Given the description of an element on the screen output the (x, y) to click on. 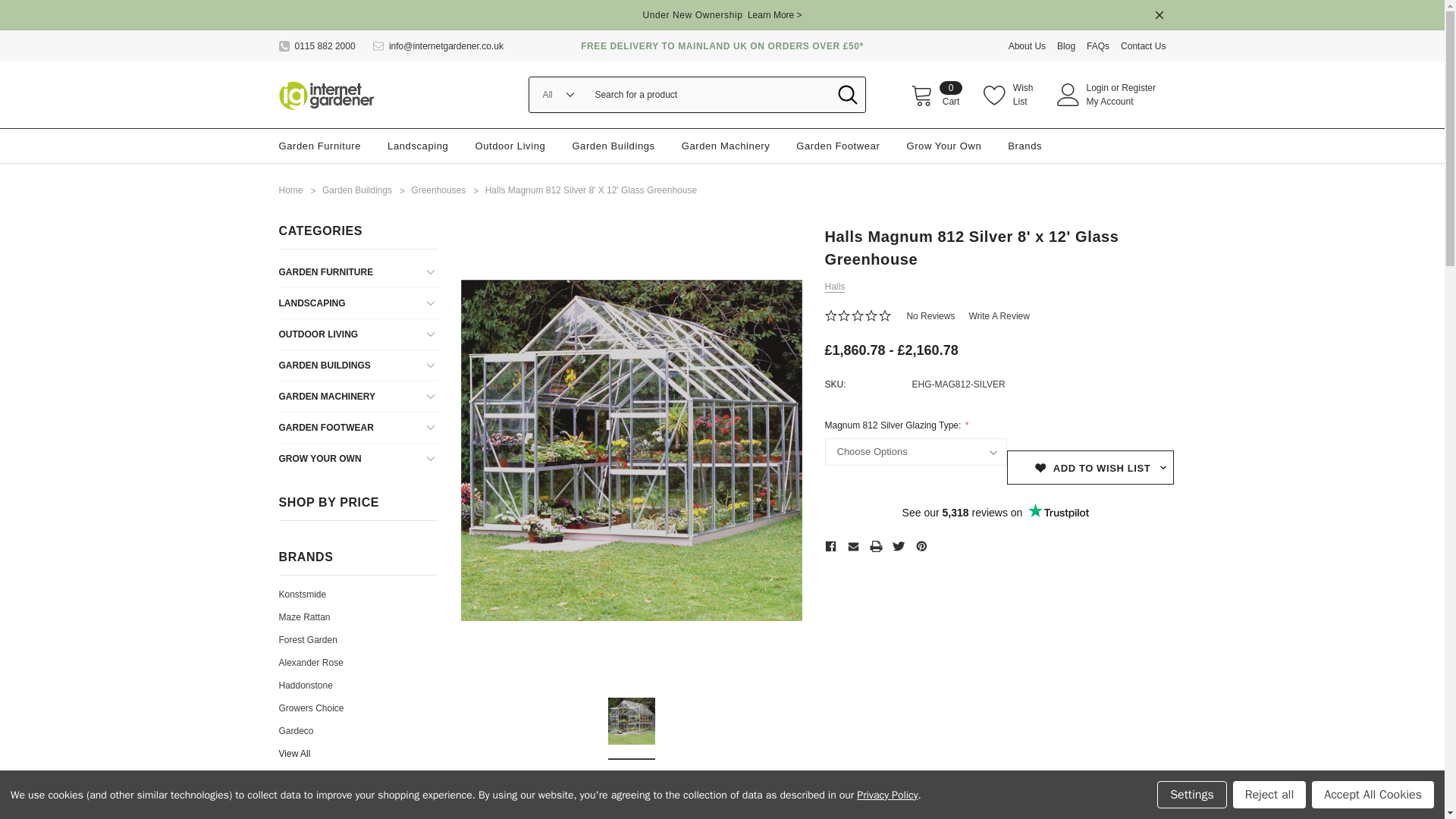
Contact Us (1143, 46)
Login (1097, 88)
0115 882 2000 (317, 45)
Customer reviews powered by Trustpilot (995, 512)
Halls Magnum 812 Silver 8' x 12' Glass Greenhouse (631, 720)
FAQs (1103, 46)
Garden Furniture (320, 145)
About Us (936, 94)
Wish List (1033, 46)
Blog (1009, 94)
My Account (1071, 46)
Register (326, 94)
